Given the description of an element on the screen output the (x, y) to click on. 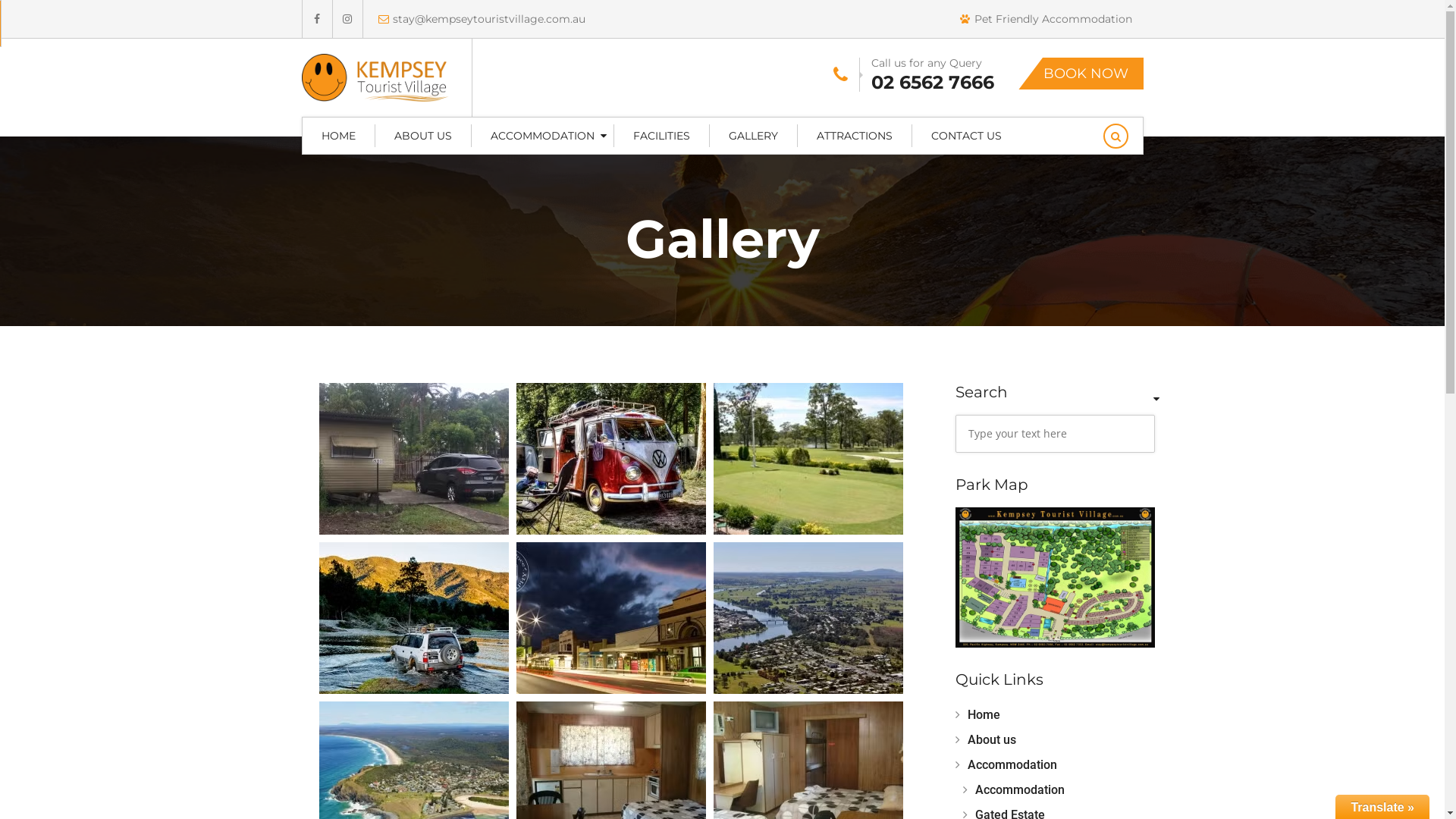
Home Element type: text (977, 714)
HOME Element type: text (337, 135)
ATTRACTIONS Element type: text (854, 135)
About us Element type: text (985, 739)
BOOK NOW Element type: text (1079, 73)
Pet Friendly Accommodation Element type: text (1046, 18)
ABOUT US Element type: text (422, 135)
Click to enlarge Element type: hover (1054, 575)
ACCOMMODATION Element type: text (542, 135)
Accommodation Element type: text (1013, 789)
CONTACT US Element type: text (965, 135)
stay@kempseytouristvillage.com.au Element type: text (473, 18)
Accommodation Element type: text (1006, 764)
GALLERY Element type: text (753, 135)
FACILITIES Element type: text (661, 135)
